Given the description of an element on the screen output the (x, y) to click on. 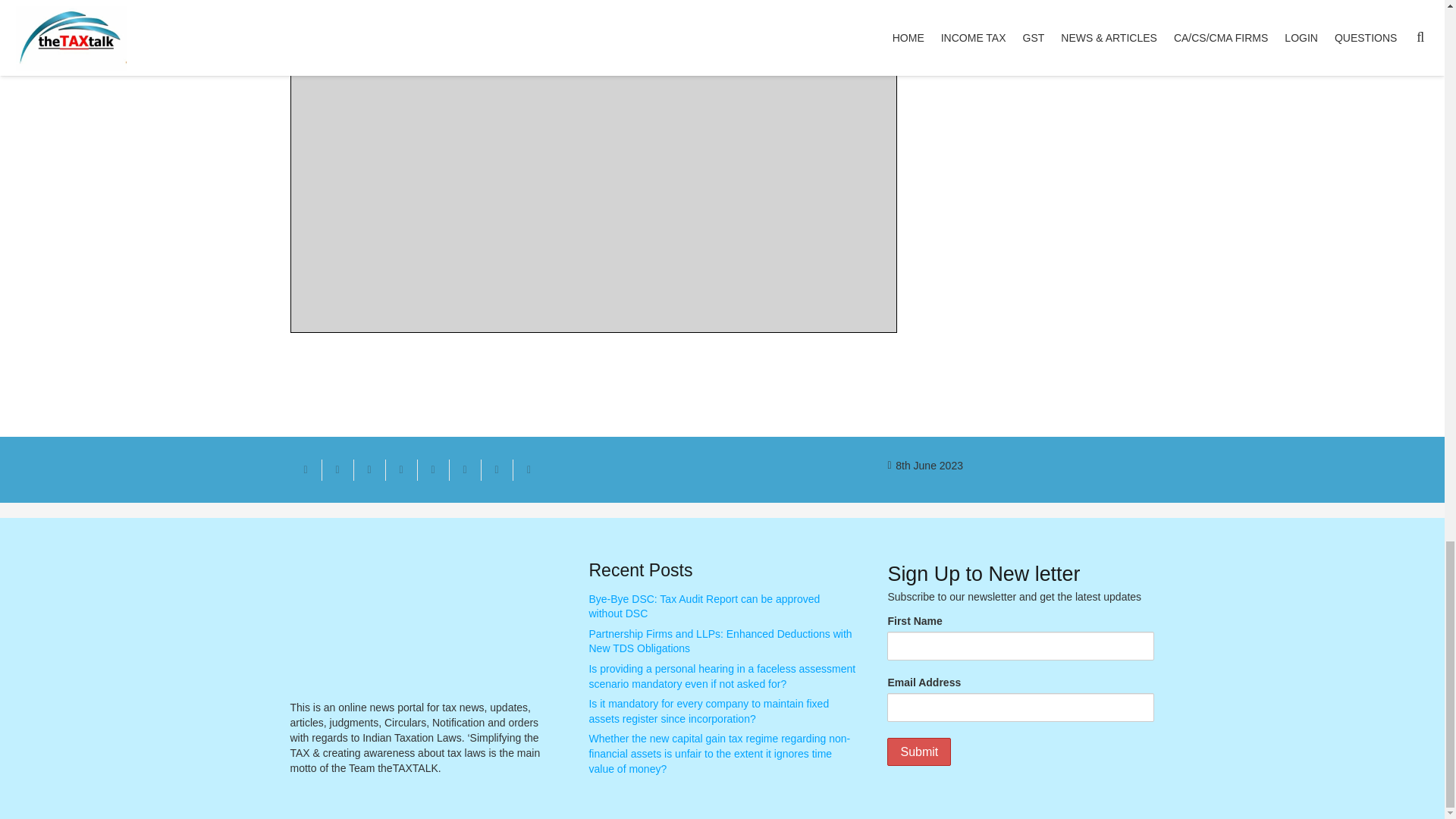
Share this (528, 469)
Share this (496, 469)
Pin this (432, 469)
Submit (918, 751)
Share this (400, 469)
Tweet this (369, 469)
Email this (305, 469)
Share this (337, 469)
Share this (464, 469)
